Given the description of an element on the screen output the (x, y) to click on. 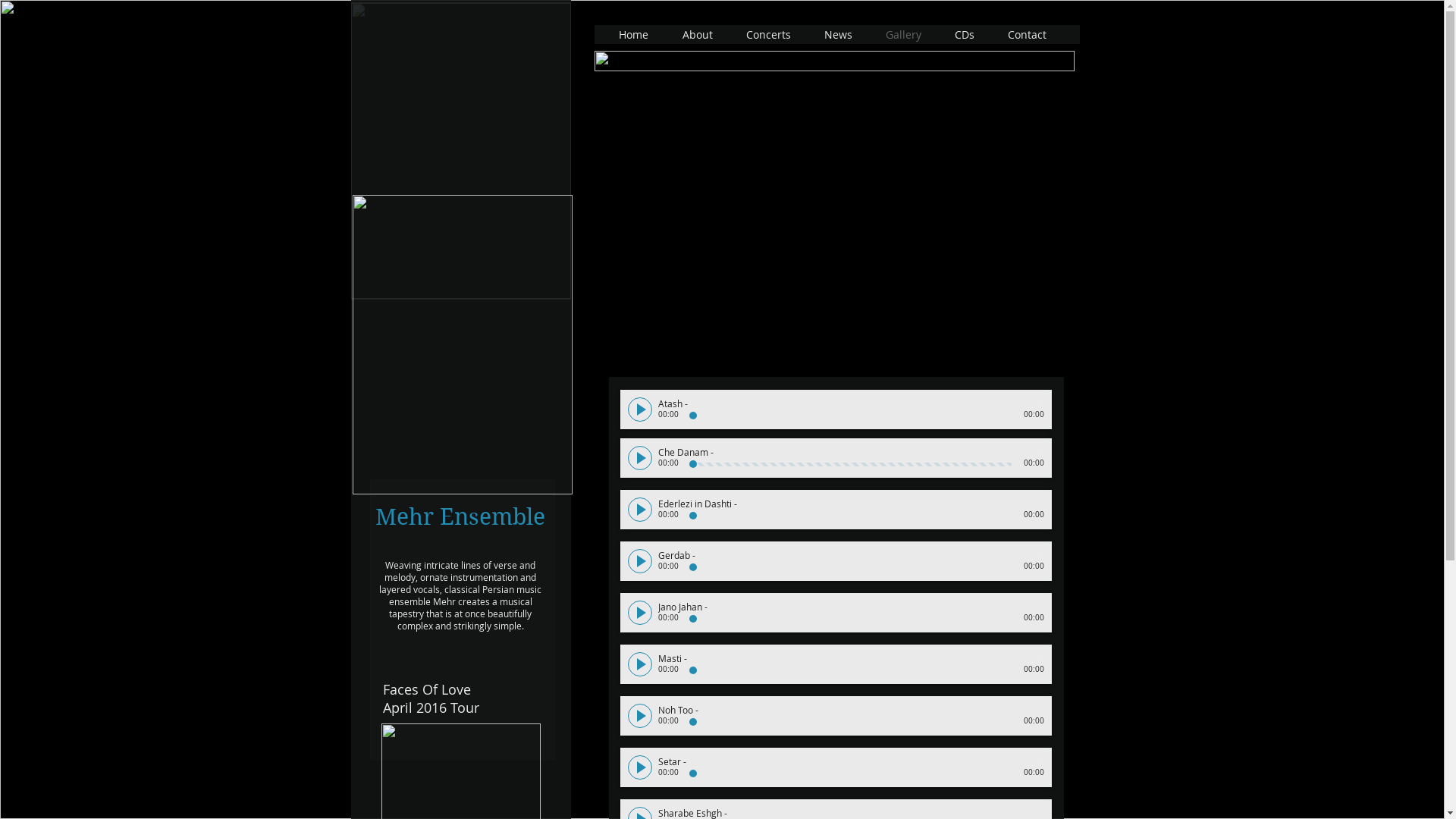
CDs Element type: text (964, 34)
About Element type: text (699, 34)
Mehr Ensemble Element type: hover (461, 344)
Concerts Element type: text (770, 34)
News Element type: text (838, 34)
Gallery Element type: text (904, 34)
contentTop.png Element type: hover (834, 60)
Home Element type: text (635, 34)
Contact Element type: text (1027, 34)
